Given the description of an element on the screen output the (x, y) to click on. 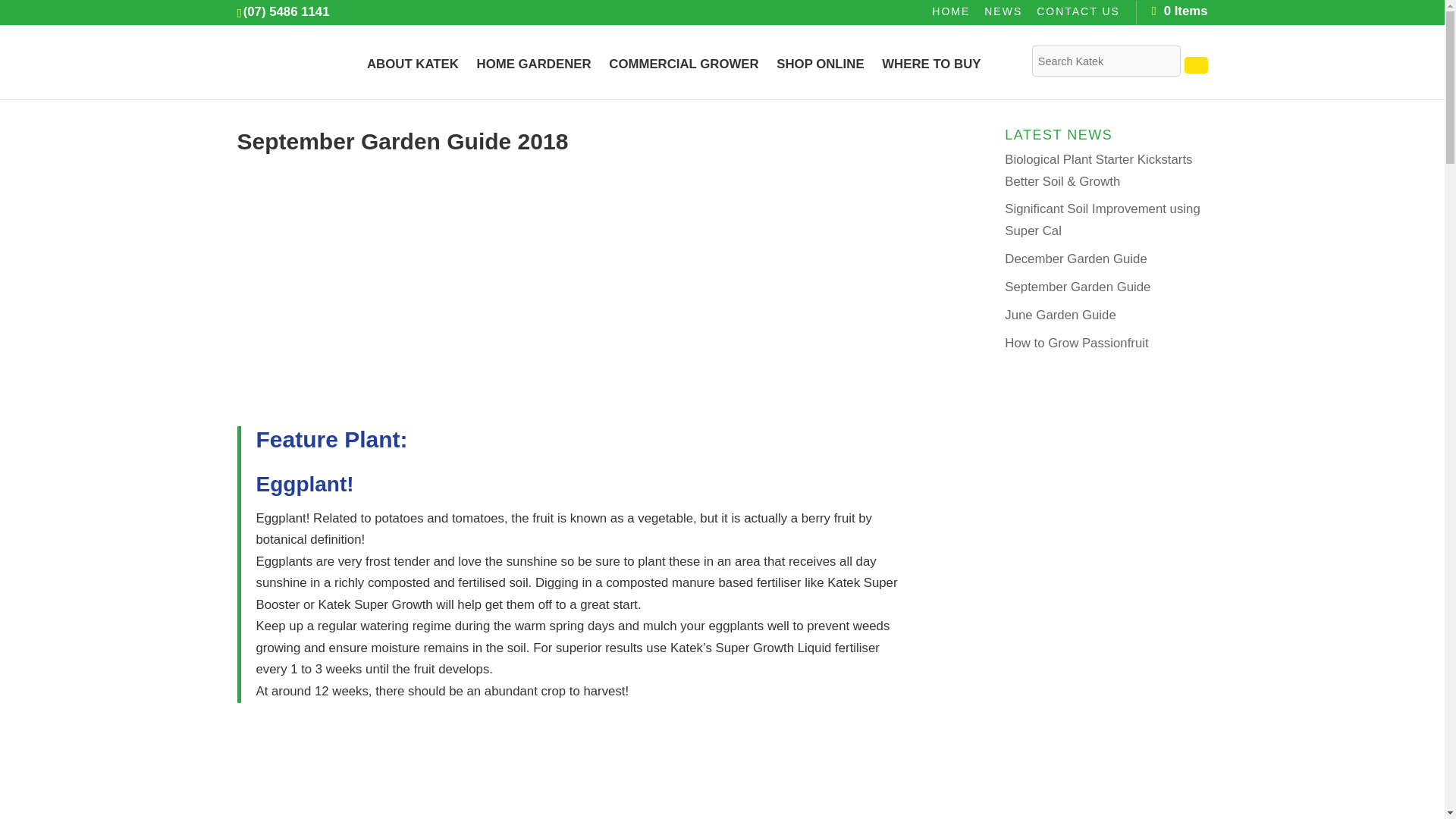
CONTACT US (1077, 15)
Search for: (1106, 60)
HOME GARDENER (534, 78)
ABOUT KATEK (412, 78)
NEWS (1003, 15)
COMMERCIAL GROWER (683, 78)
0 Items (1178, 11)
HOME (950, 15)
